Given the description of an element on the screen output the (x, y) to click on. 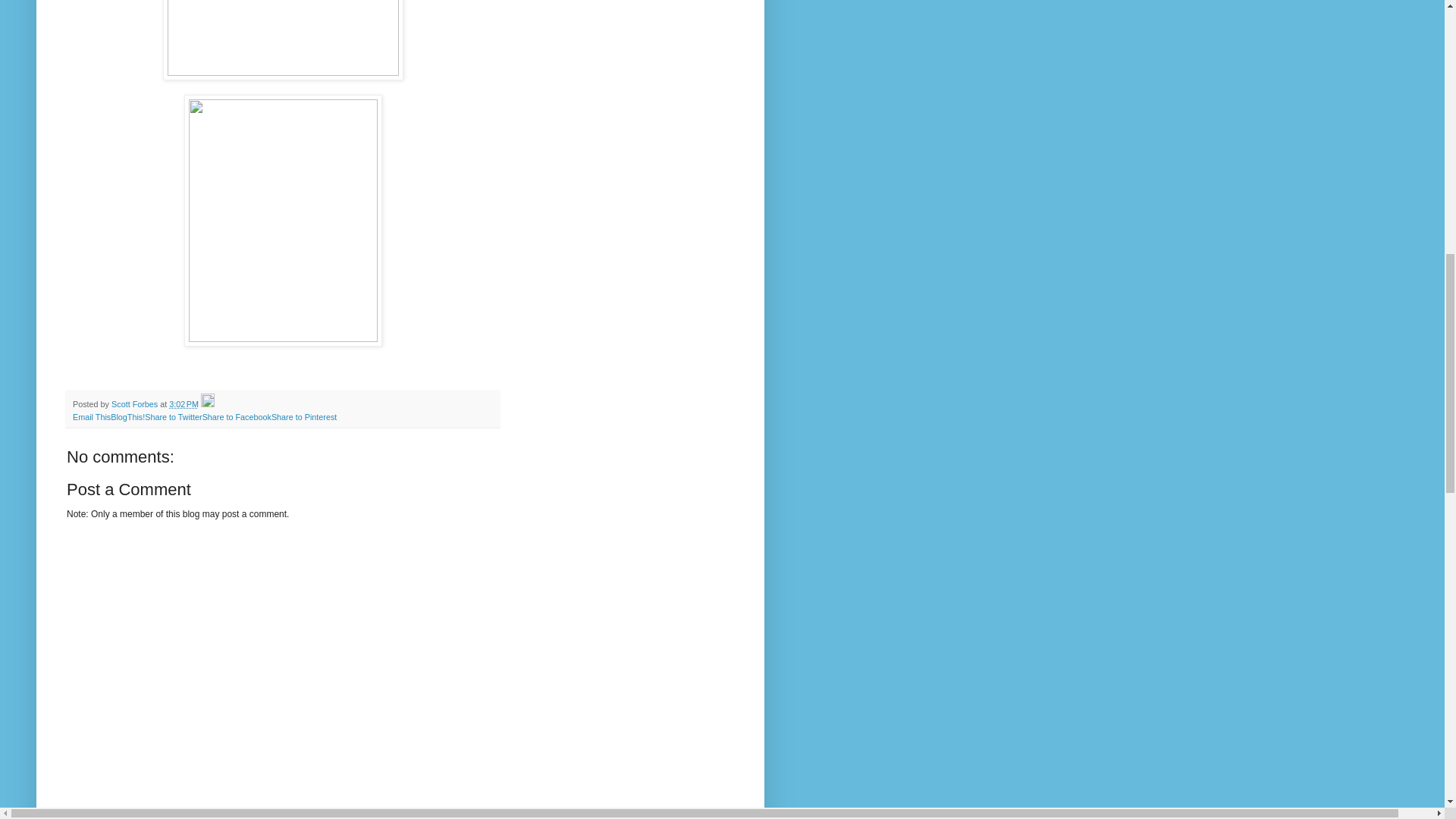
Share to Twitter (173, 416)
Share to Facebook (236, 416)
Edit Post (207, 403)
Share to Twitter (173, 416)
author profile (136, 403)
Email This (91, 416)
Share to Facebook (236, 416)
Email This (91, 416)
BlogThis! (127, 416)
permanent link (183, 403)
Share to Pinterest (303, 416)
Share to Pinterest (303, 416)
Scott Forbes (136, 403)
BlogThis! (127, 416)
